Given the description of an element on the screen output the (x, y) to click on. 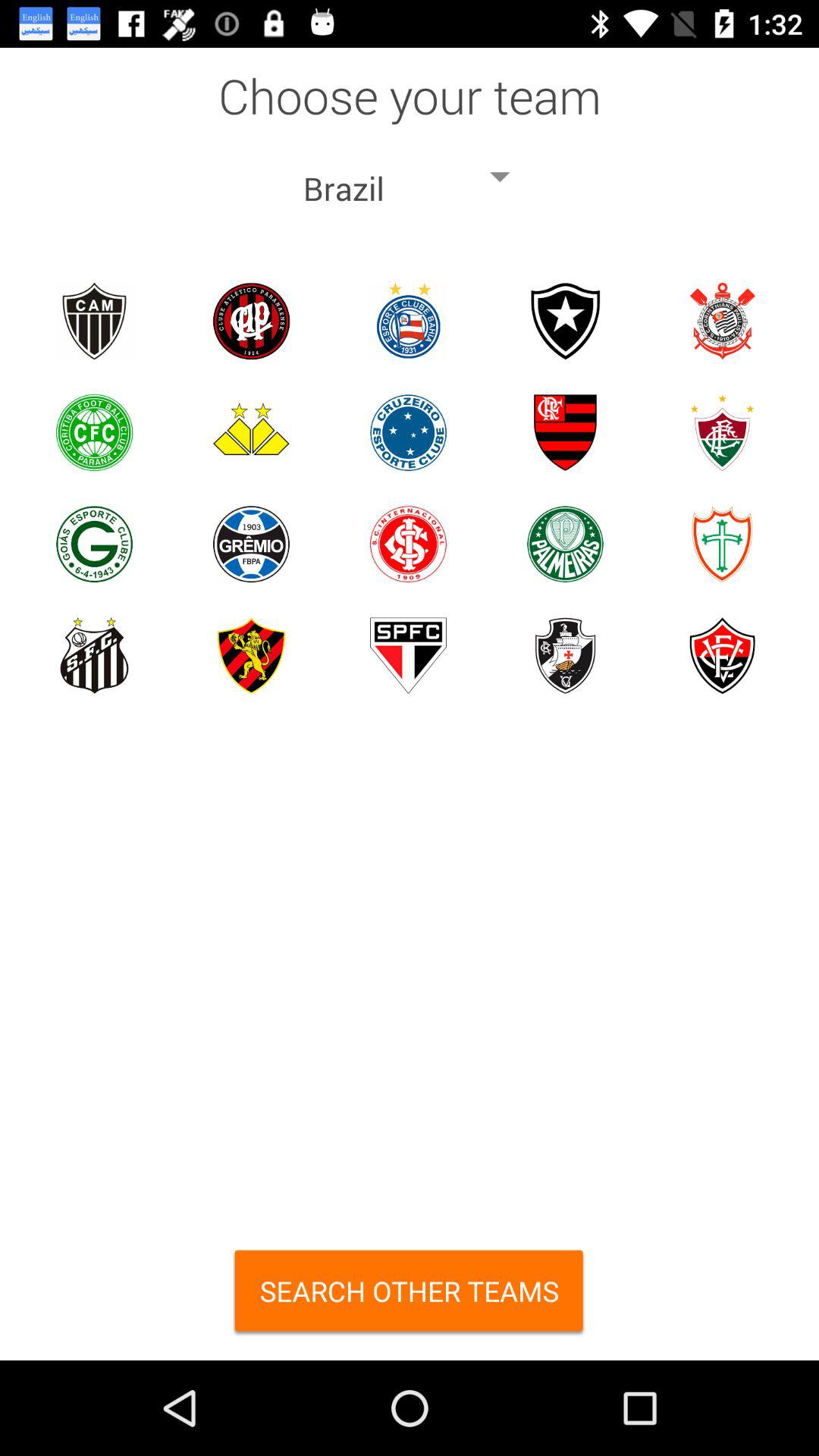
choose option (94, 321)
